Given the description of an element on the screen output the (x, y) to click on. 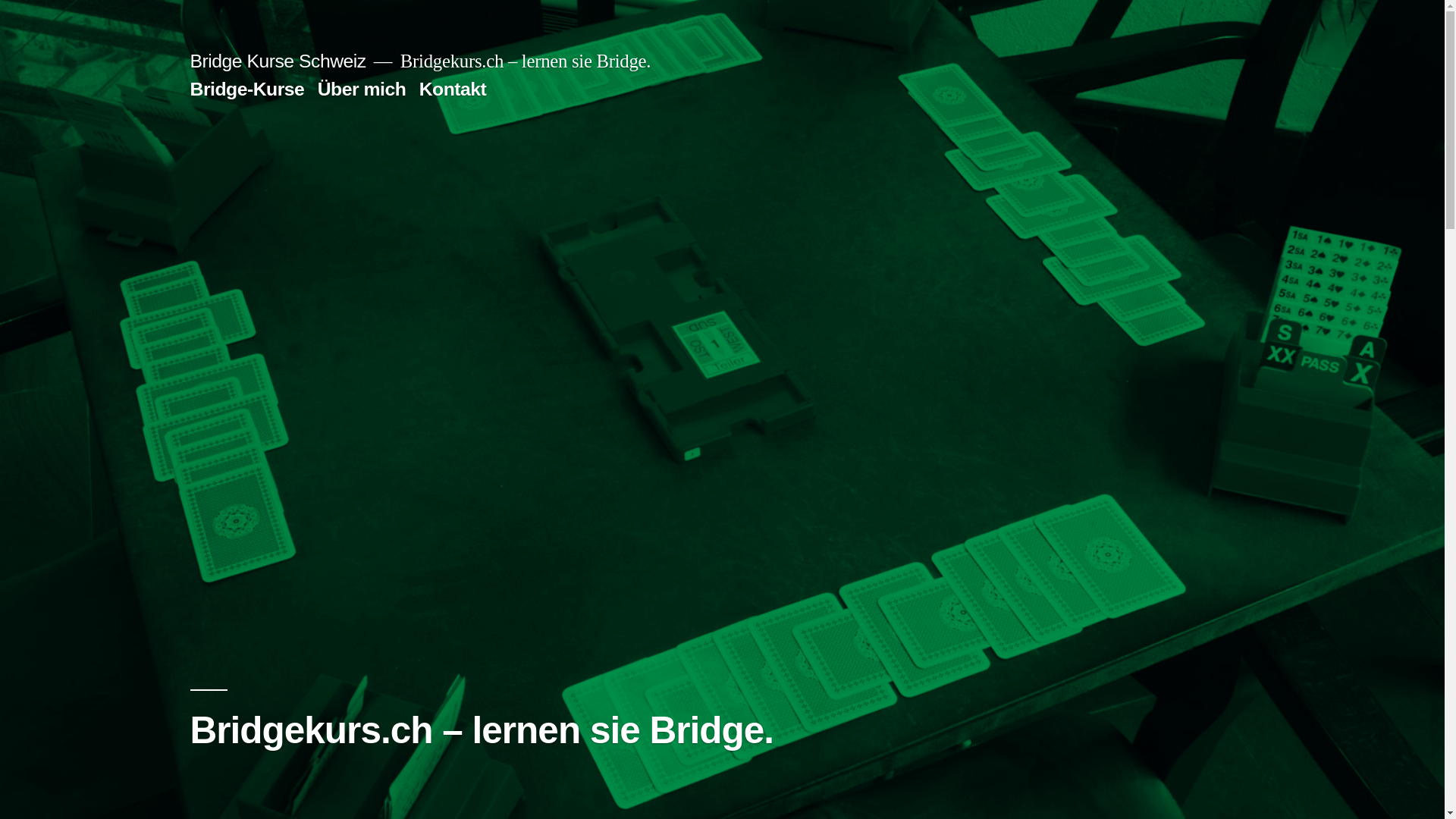
Bridge-Kurse Element type: text (246, 88)
Bridge Kurse Schweiz Element type: text (277, 60)
Kontakt Element type: text (452, 88)
